Given the description of an element on the screen output the (x, y) to click on. 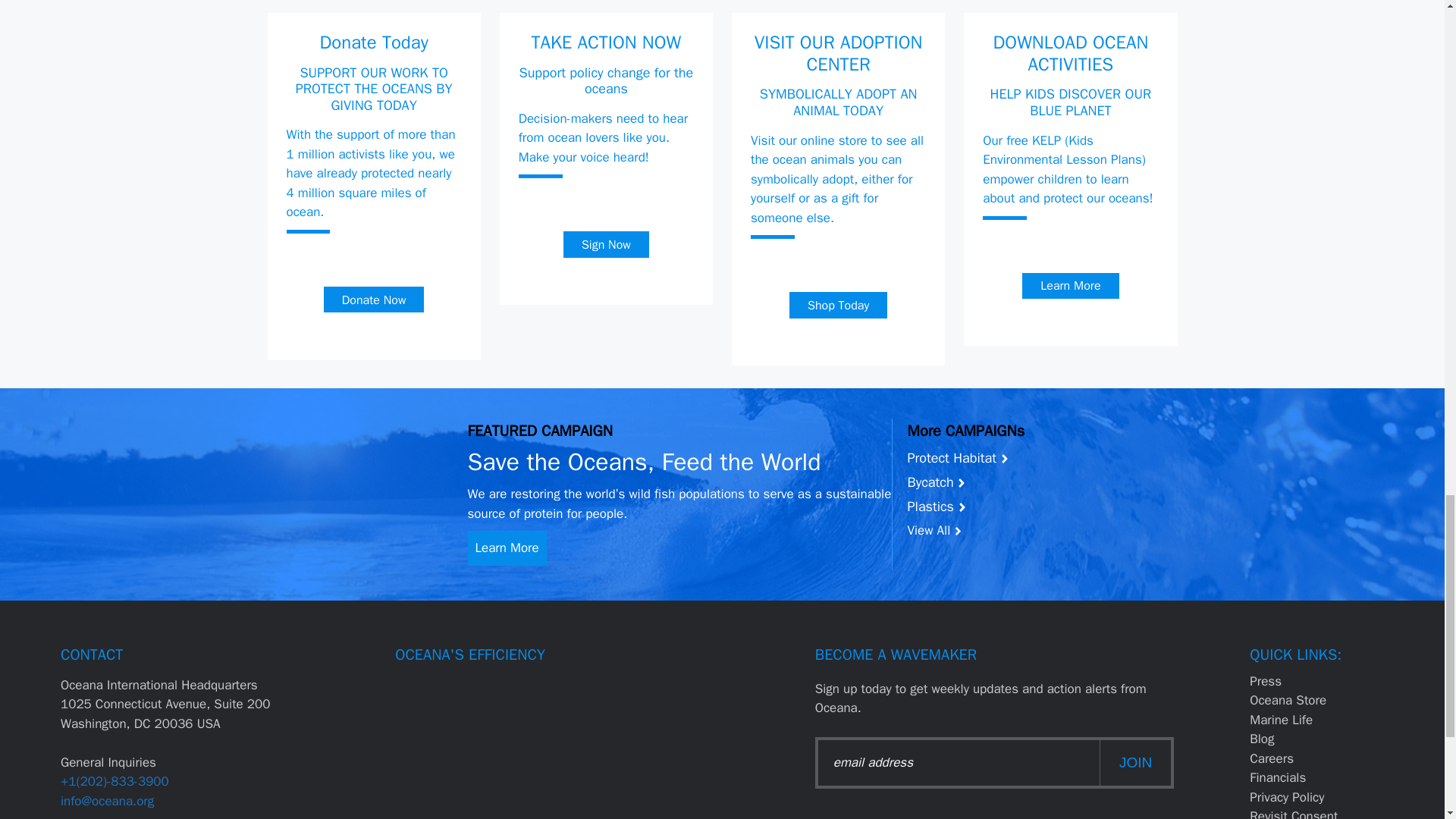
JOIN (1135, 763)
